Given the description of an element on the screen output the (x, y) to click on. 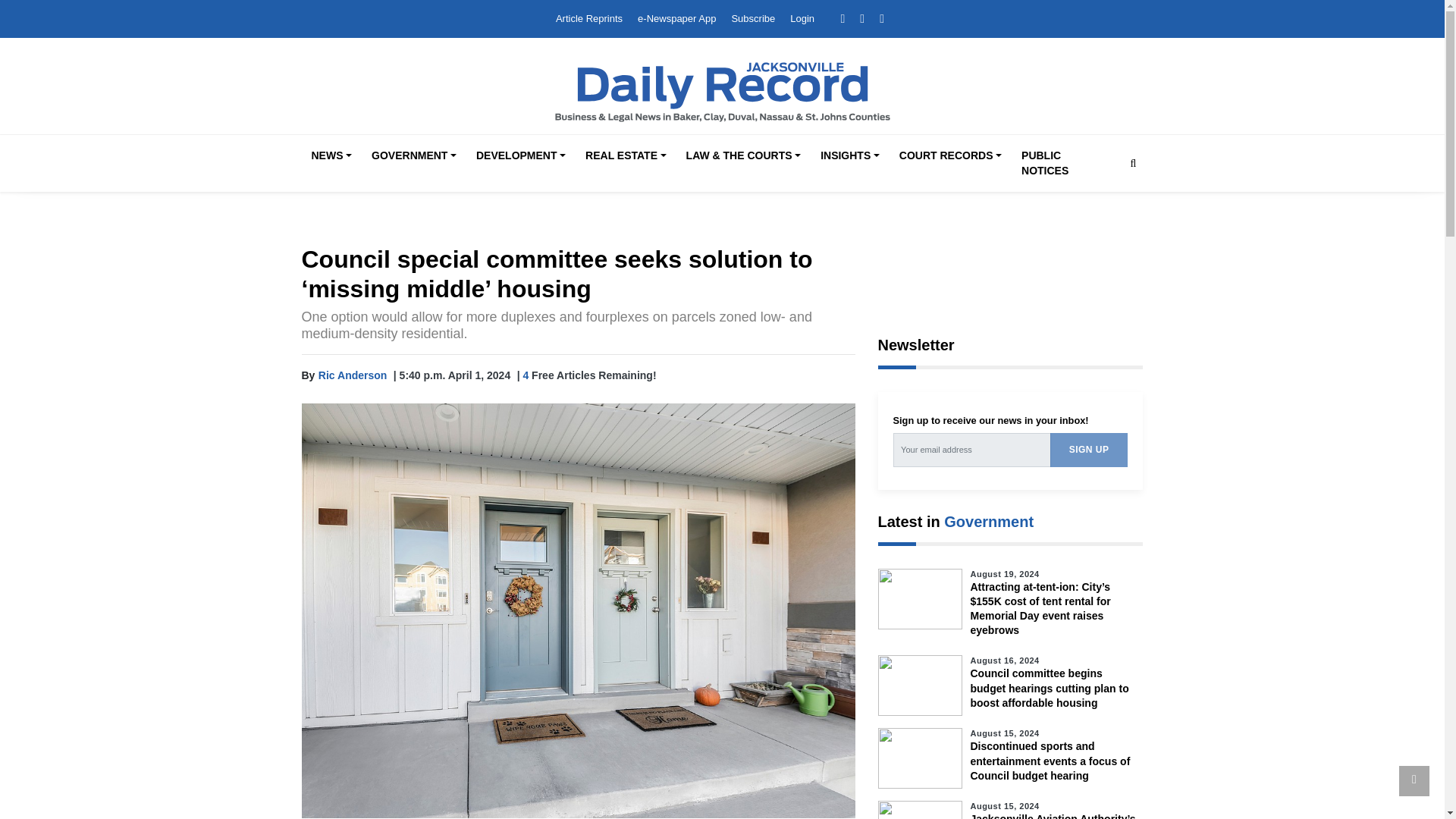
COURT RECORDS (950, 156)
Article Reprints (589, 18)
e-Newspaper App (676, 18)
NEWS (330, 156)
GOVERNMENT (414, 156)
INSIGHTS (849, 156)
Subscribe (752, 18)
Login (801, 18)
REAL ESTATE (625, 156)
DEVELOPMENT (520, 156)
